Given the description of an element on the screen output the (x, y) to click on. 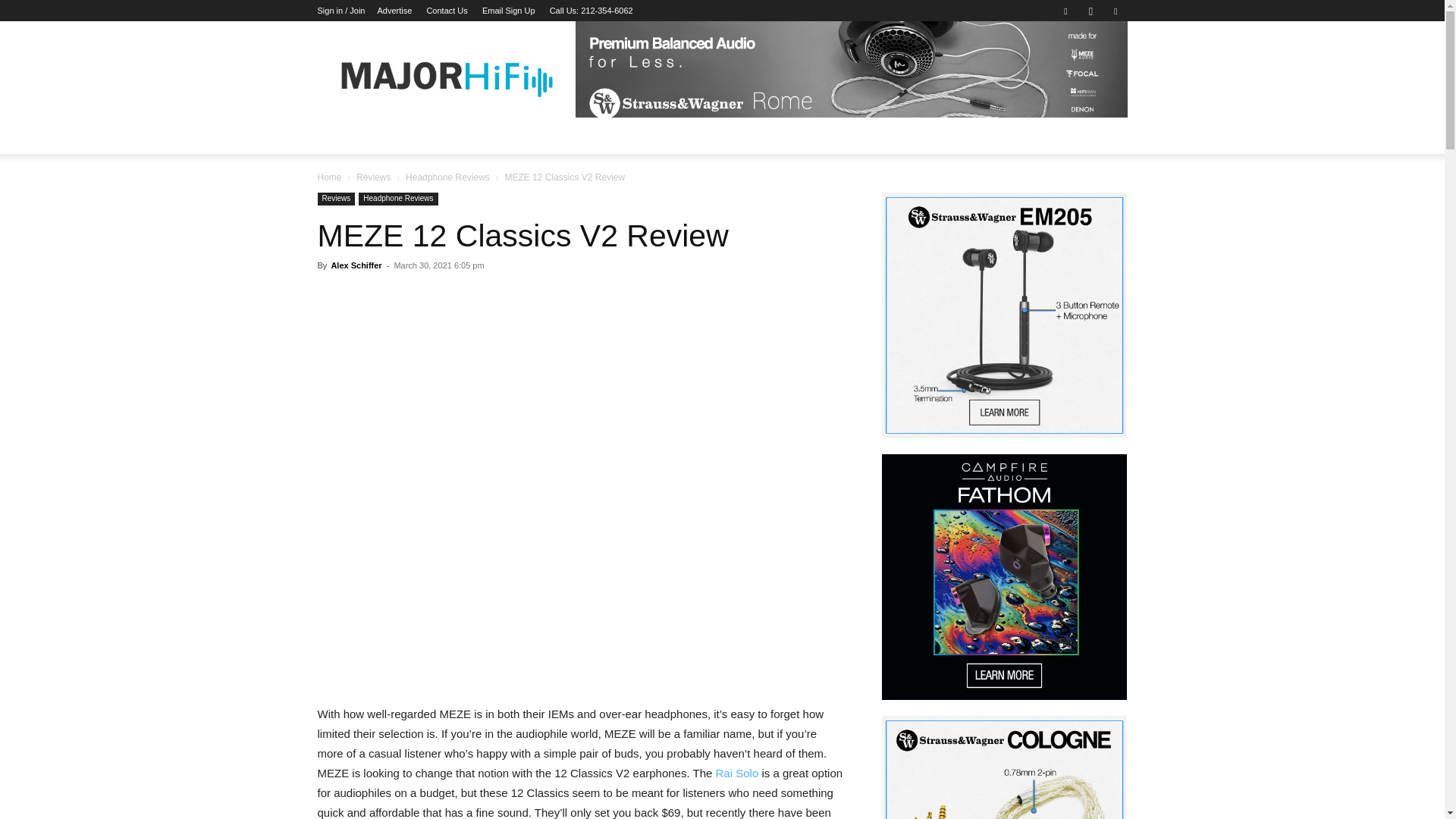
View all posts in Reviews (373, 176)
REVIEWS (476, 135)
Facebook (1065, 10)
Advertise (394, 10)
View all posts in Headphone Reviews (447, 176)
Twitter (1114, 10)
Call Us: 212-354-6062 (591, 10)
LATEST NEWS (365, 135)
Contact Us (446, 10)
RANKING (572, 135)
